Given the description of an element on the screen output the (x, y) to click on. 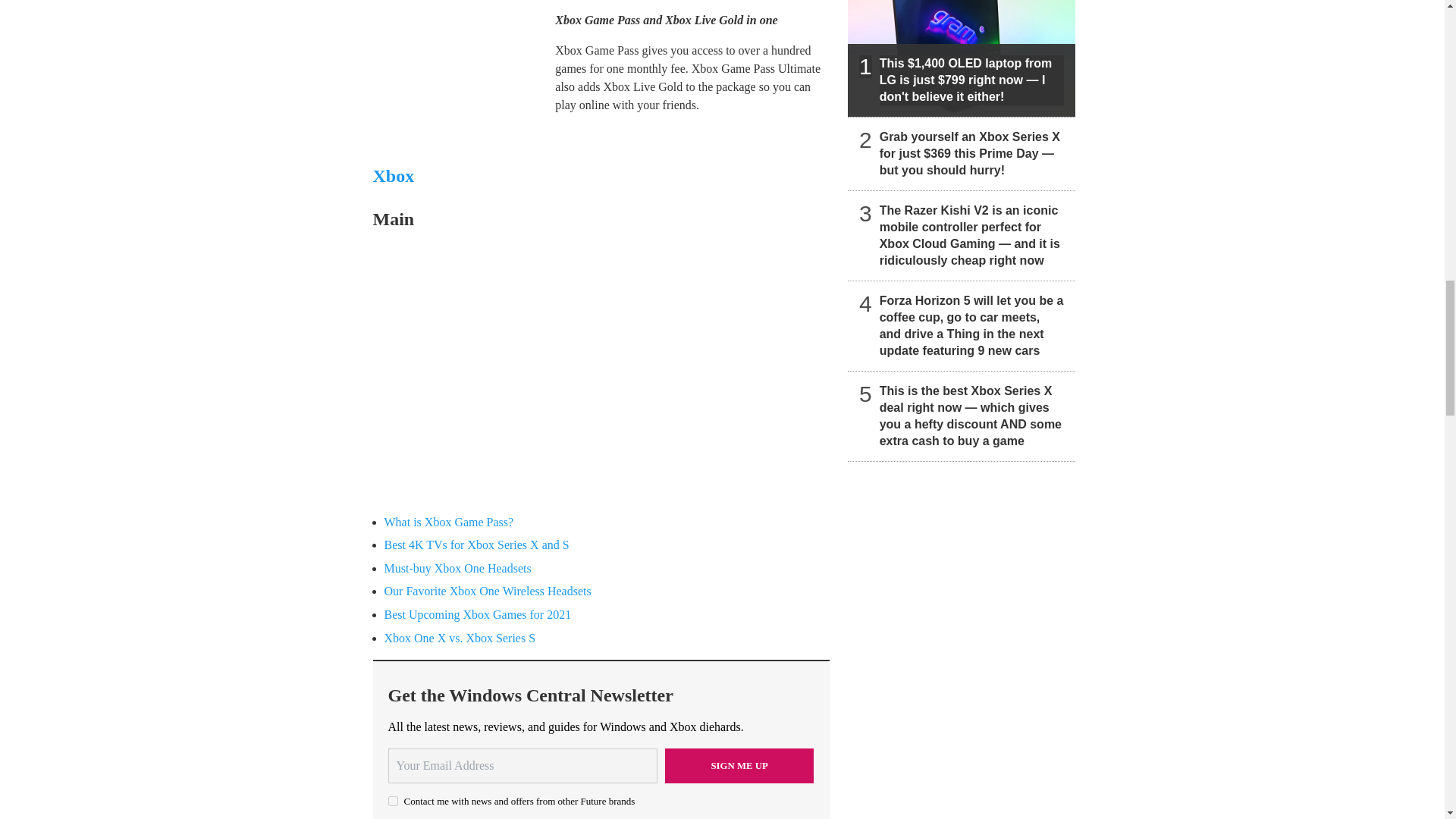
Sign me up (739, 765)
on (392, 800)
